Given the description of an element on the screen output the (x, y) to click on. 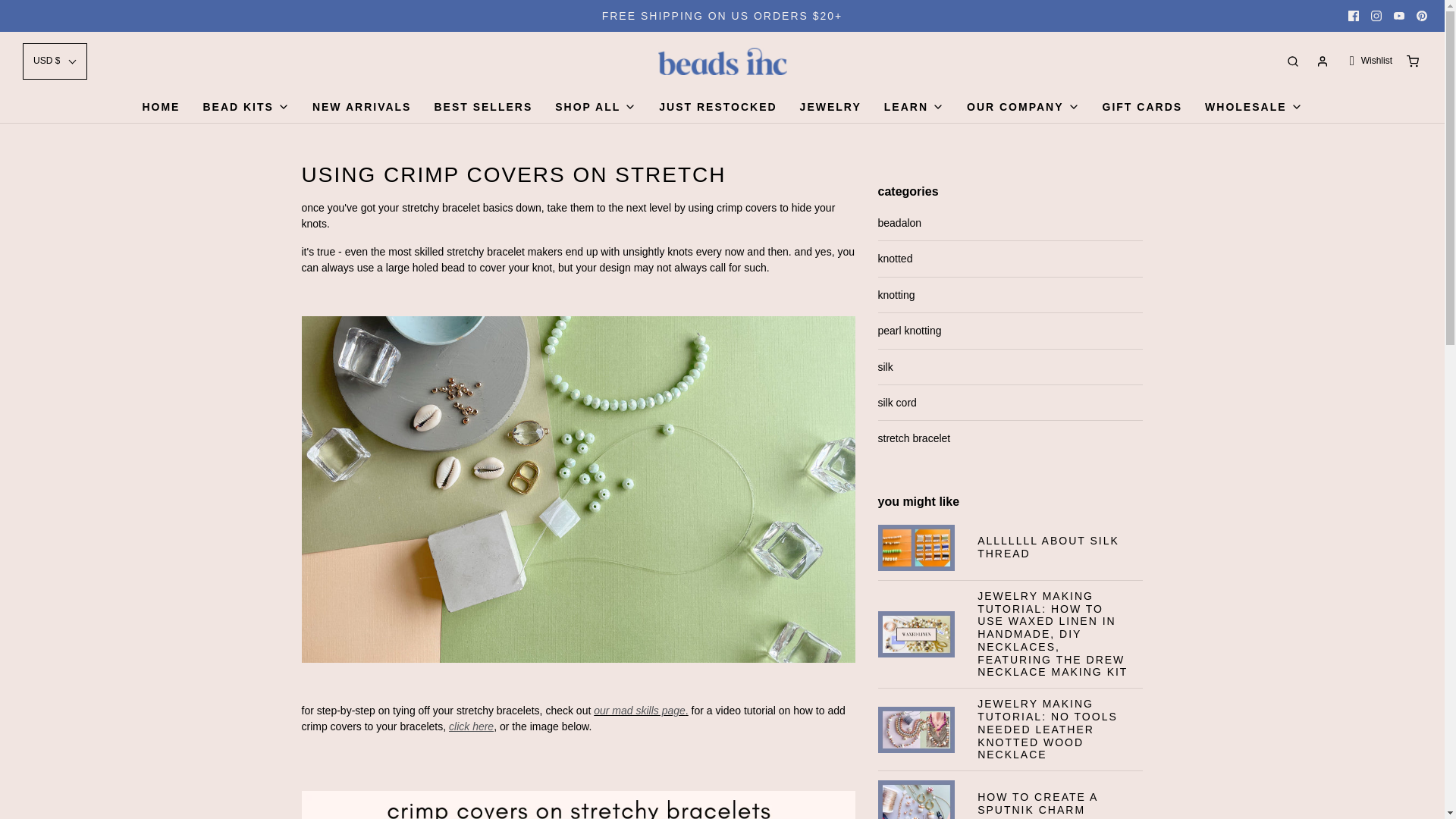
Log in (1322, 61)
Search (1423, 6)
FACEBOOK ICON (1353, 15)
Show articles tagged silk (1009, 366)
PINTEREST ICON (1421, 15)
SHOP ALL (595, 106)
YOUTUBE ICON (1399, 15)
Show articles tagged beadalon (1009, 222)
Show articles tagged pearl knotting (1009, 330)
YOUTUBE ICON (1399, 15)
